Given the description of an element on the screen output the (x, y) to click on. 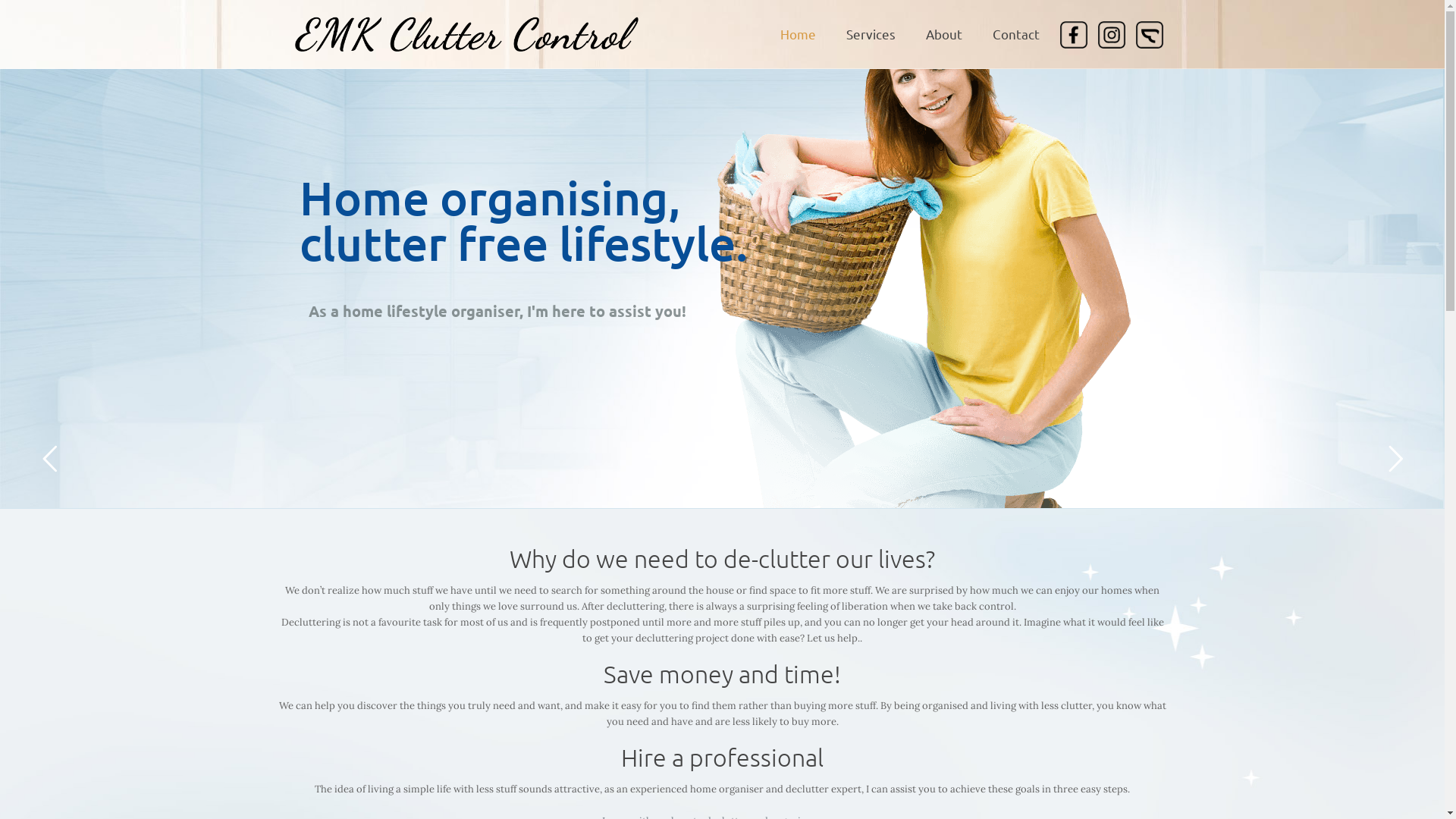
Services Element type: text (870, 34)
Airtasker Element type: text (1148, 34)
Home Element type: text (797, 34)
EMK Clutter Control Element type: hover (465, 28)
About Element type: text (943, 34)
Contact Element type: text (1015, 34)
Instagram Element type: text (1110, 34)
Facebook Element type: text (1073, 34)
